Given the description of an element on the screen output the (x, y) to click on. 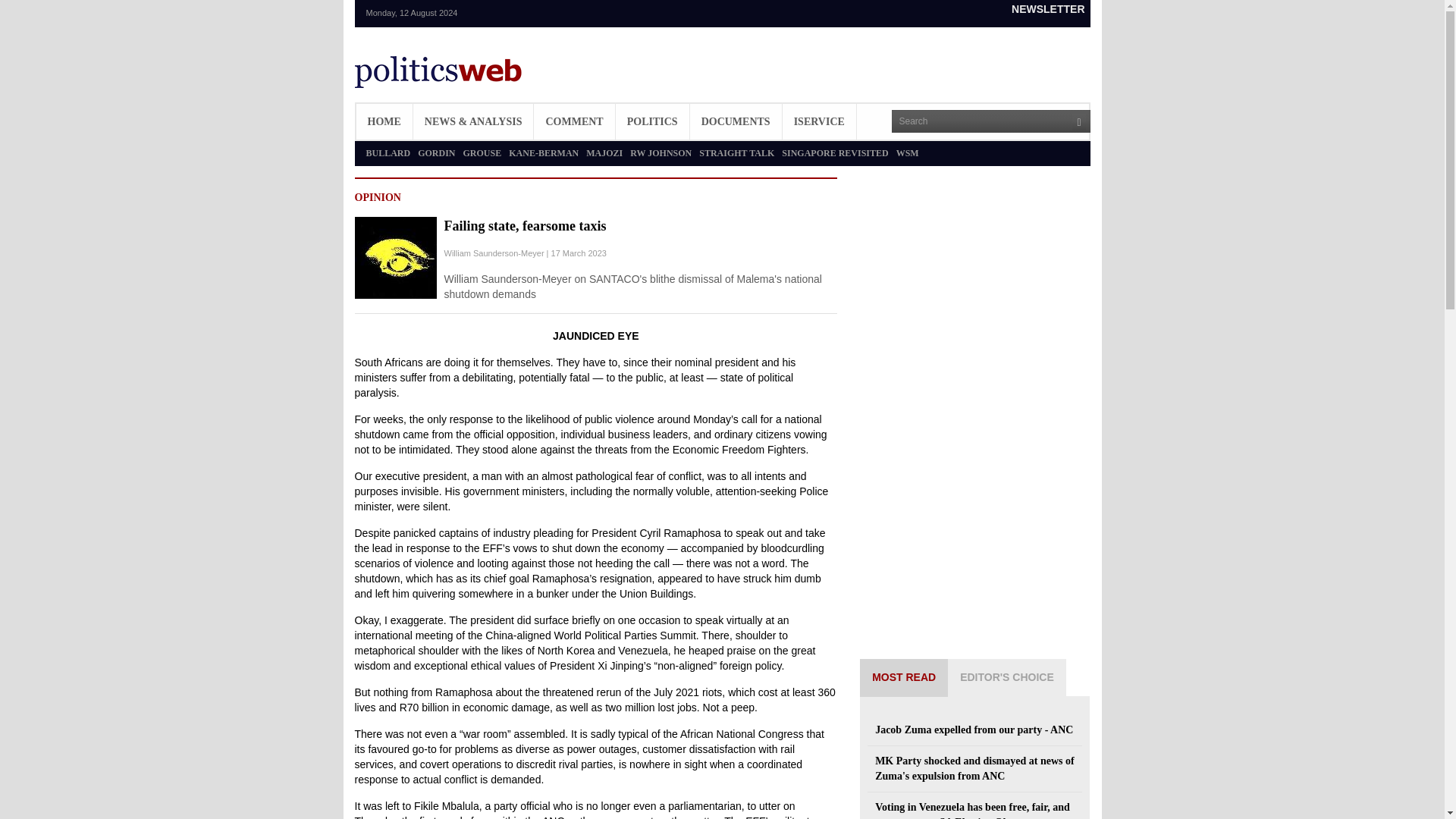
MOST READ (903, 677)
COMMENT (574, 121)
WSM (907, 153)
RW JOHNSON (660, 153)
GORDIN (435, 153)
NEWSLETTER (1047, 9)
KANE-BERMAN (543, 153)
HOME (384, 121)
SINGAPORE REVISITED (834, 153)
MAJOZI (604, 153)
